Given the description of an element on the screen output the (x, y) to click on. 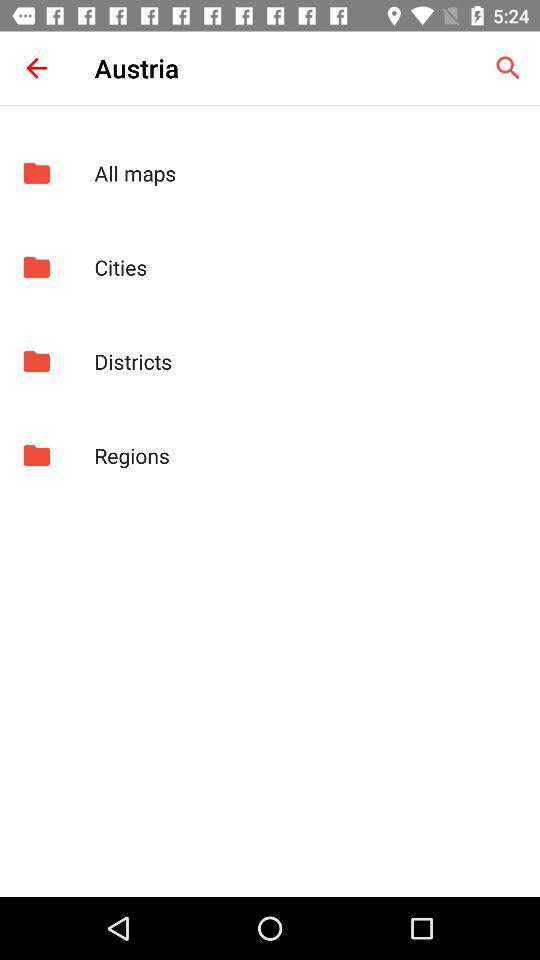
click item to the left of the cities app (36, 267)
